Given the description of an element on the screen output the (x, y) to click on. 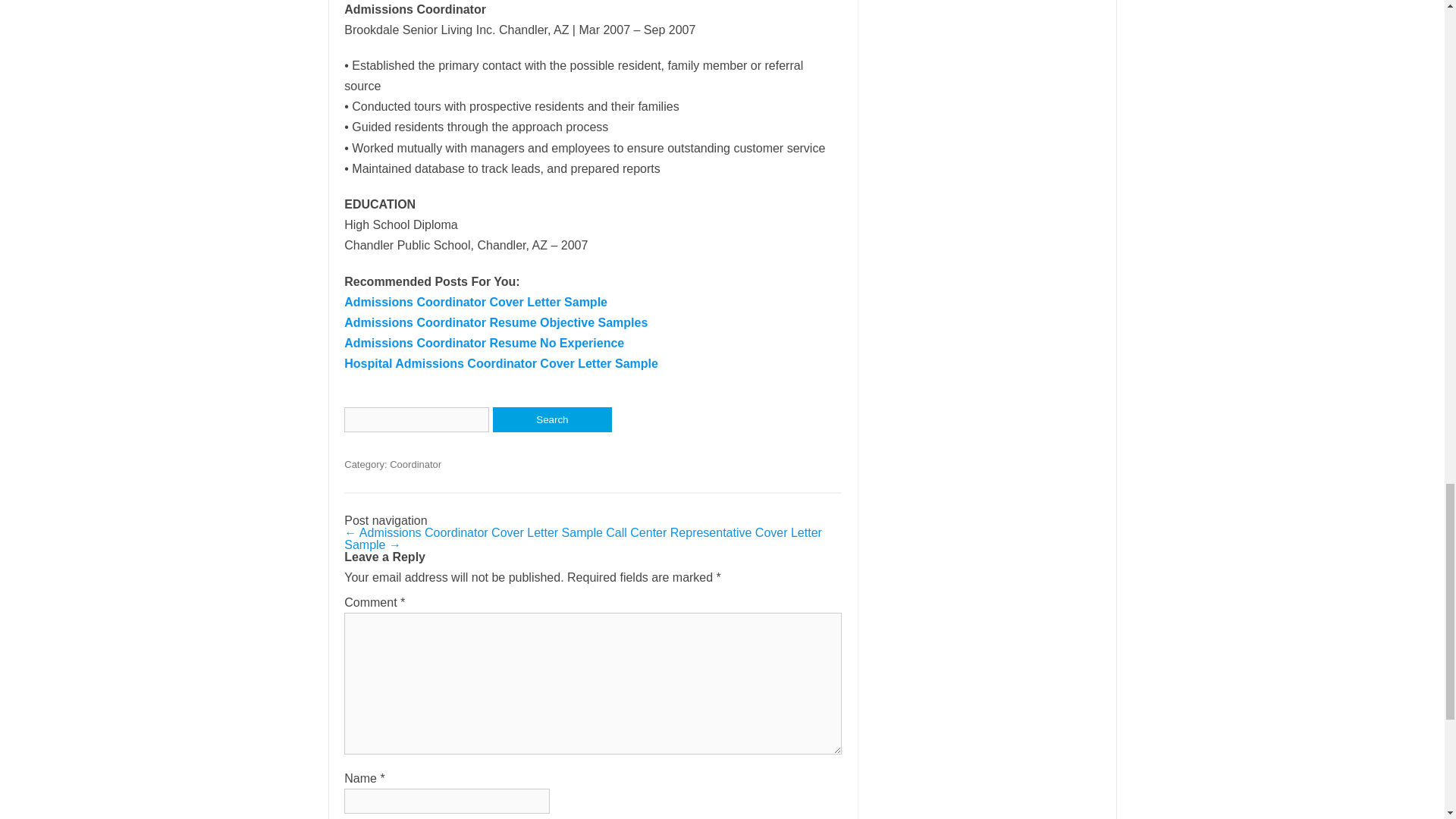
Admissions Coordinator Cover Letter Sample (475, 301)
Search (552, 419)
Admissions Coordinator Resume Objective Samples (495, 322)
Admissions Coordinator Resume No Experience (483, 342)
Hospital Admissions Coordinator Cover Letter Sample (500, 363)
Admissions Coordinator Resume Objective Samples (495, 322)
Admissions Coordinator Resume No Experience (483, 342)
Coordinator (415, 464)
Search (552, 419)
Admissions Coordinator Cover Letter Sample (475, 301)
